Given the description of an element on the screen output the (x, y) to click on. 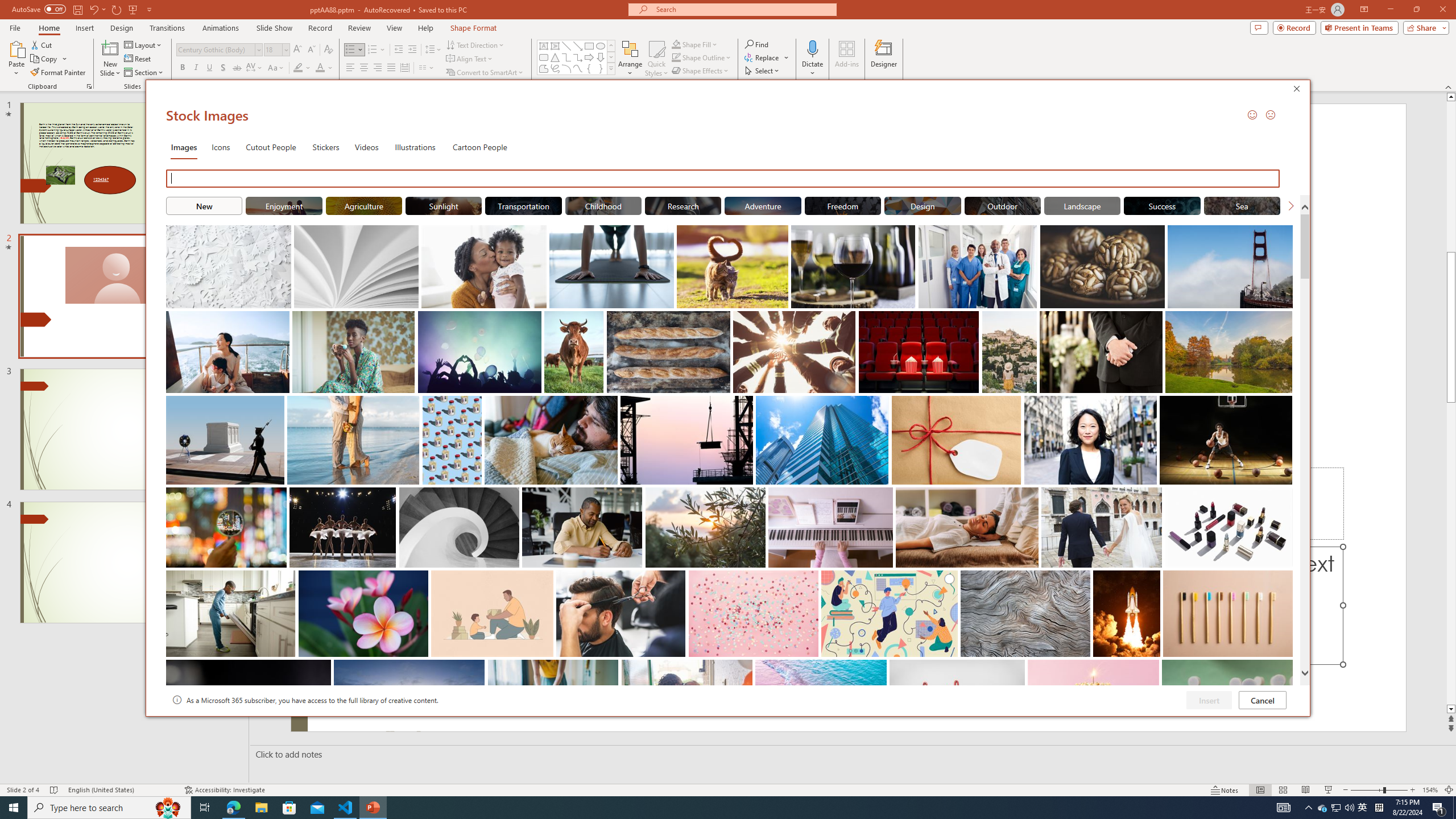
"Research" Stock Images. (682, 205)
"Transportation" Stock Images. (523, 205)
